Given the description of an element on the screen output the (x, y) to click on. 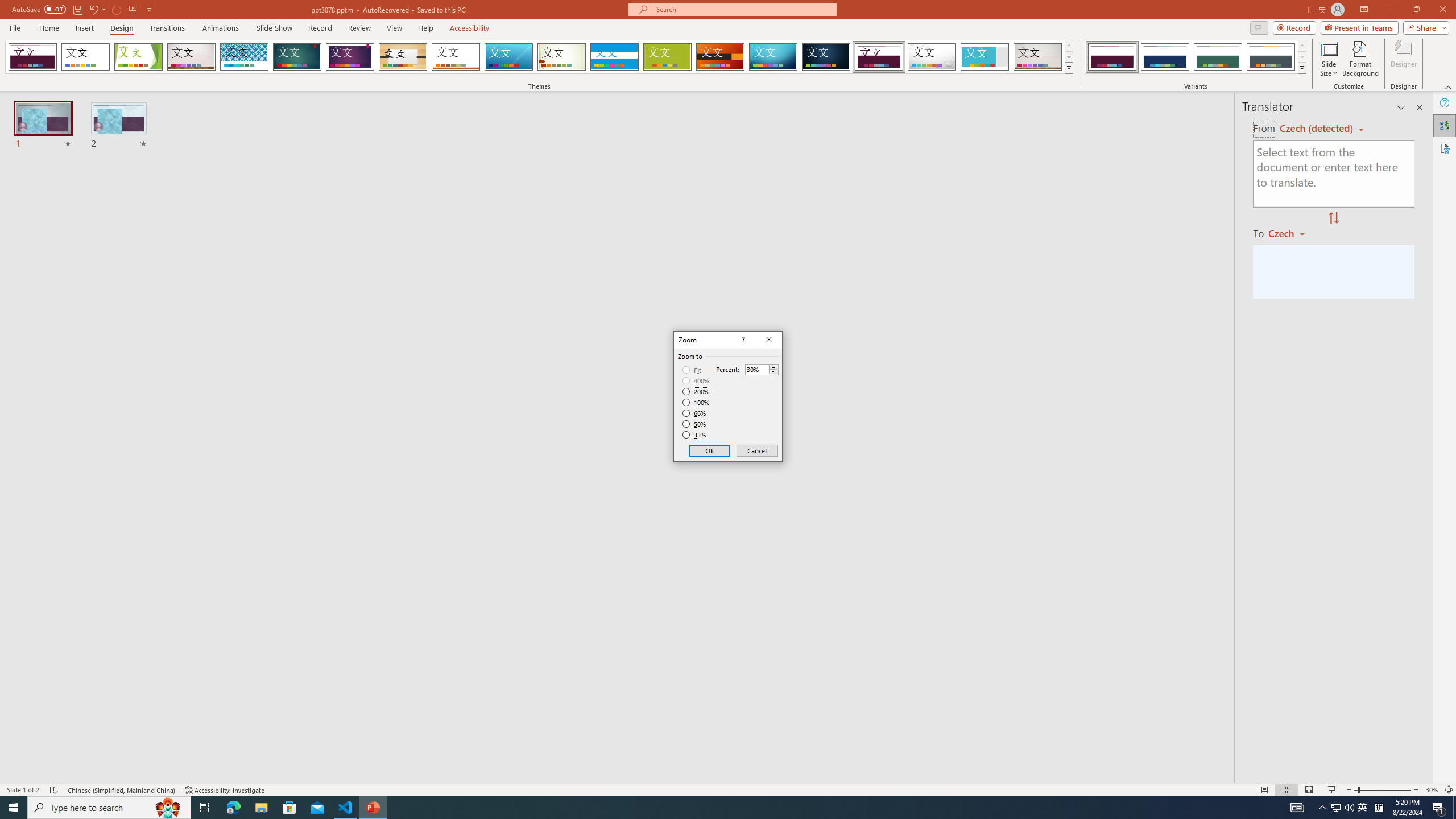
Berlin (720, 56)
50% (694, 424)
Variants (1301, 67)
